Given the description of an element on the screen output the (x, y) to click on. 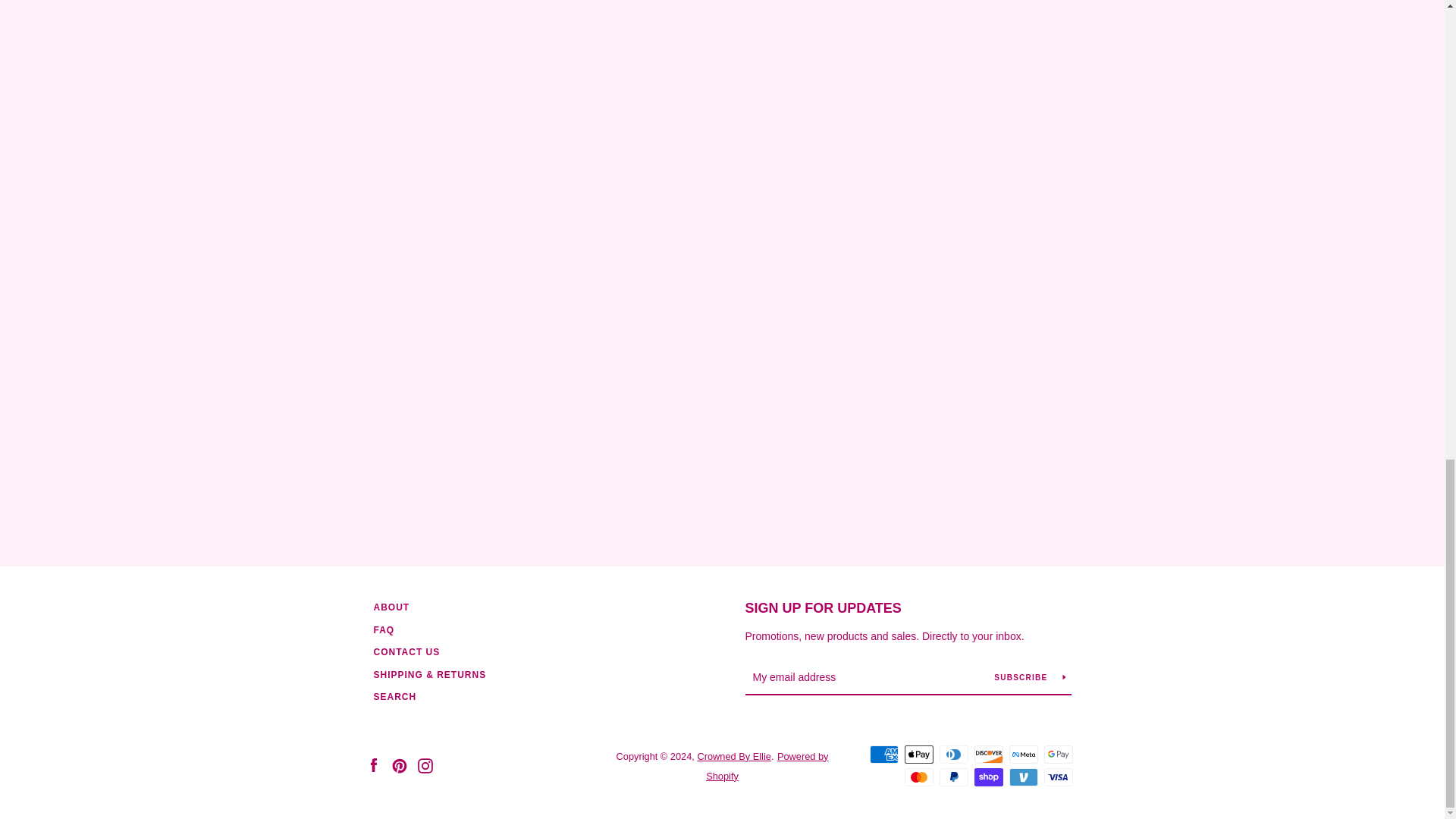
Google Pay (1057, 754)
Discover (988, 754)
Crowned By Ellie on Instagram (424, 765)
PayPal (953, 777)
Crowned By Ellie on Facebook (372, 765)
Shop Pay (988, 777)
Diners Club (953, 754)
Crowned By Ellie on Pinterest (399, 765)
Venmo (1022, 777)
Meta Pay (1022, 754)
Visa (1057, 777)
Apple Pay (918, 754)
Mastercard (918, 777)
American Express (883, 754)
